Given the description of an element on the screen output the (x, y) to click on. 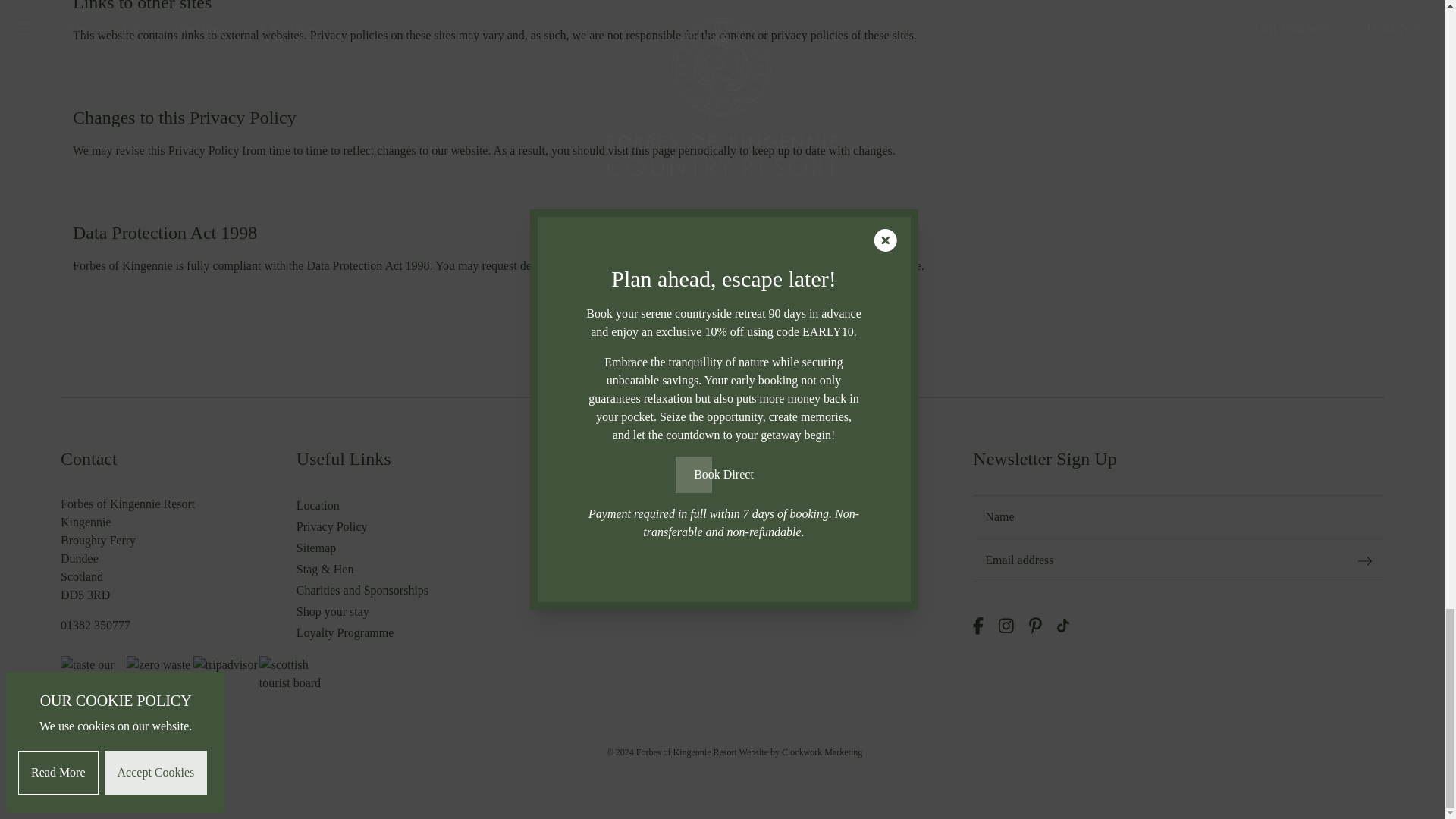
Clockwork Marketing (821, 751)
